Given the description of an element on the screen output the (x, y) to click on. 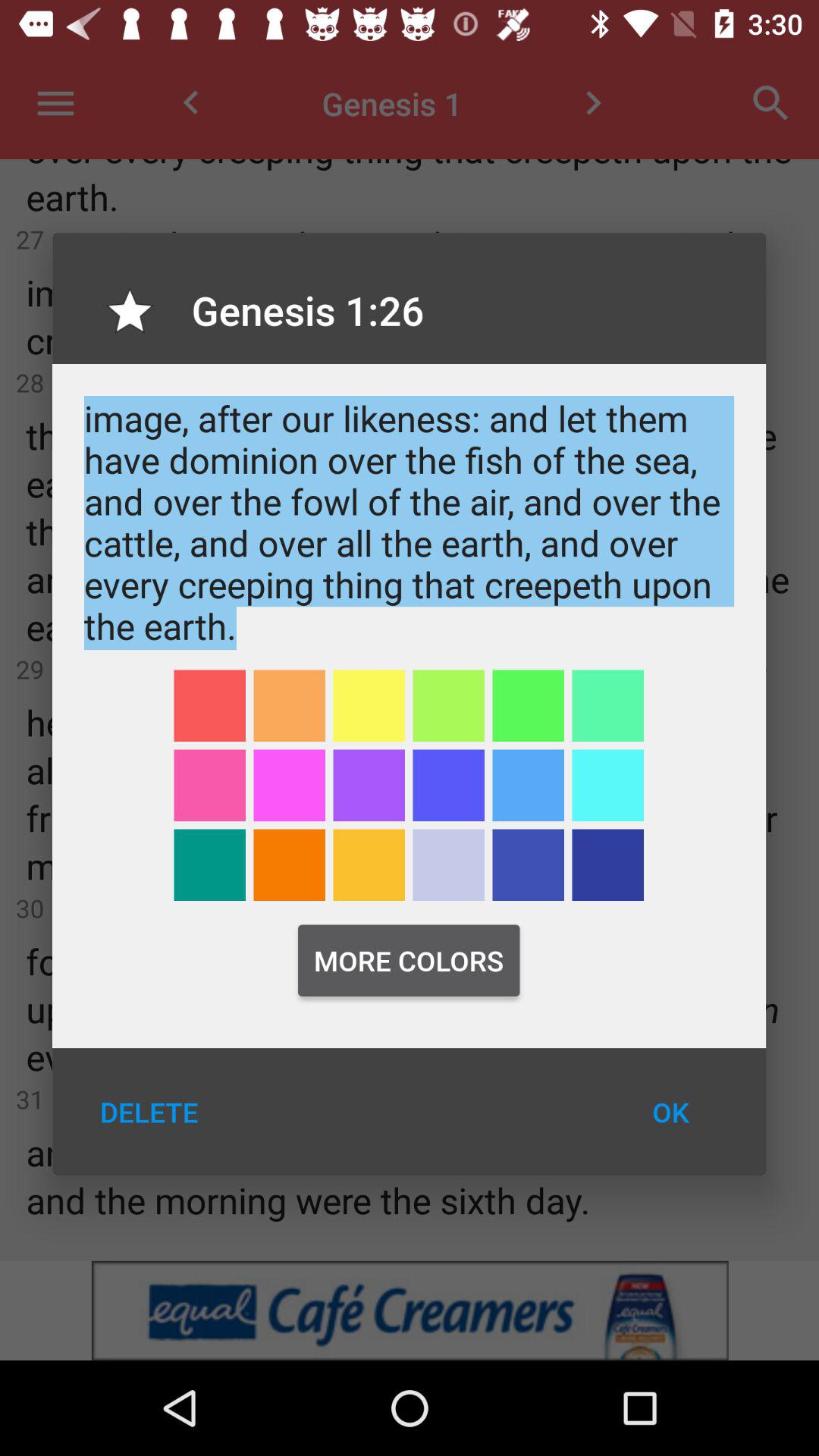
choose highlight color (607, 785)
